Given the description of an element on the screen output the (x, y) to click on. 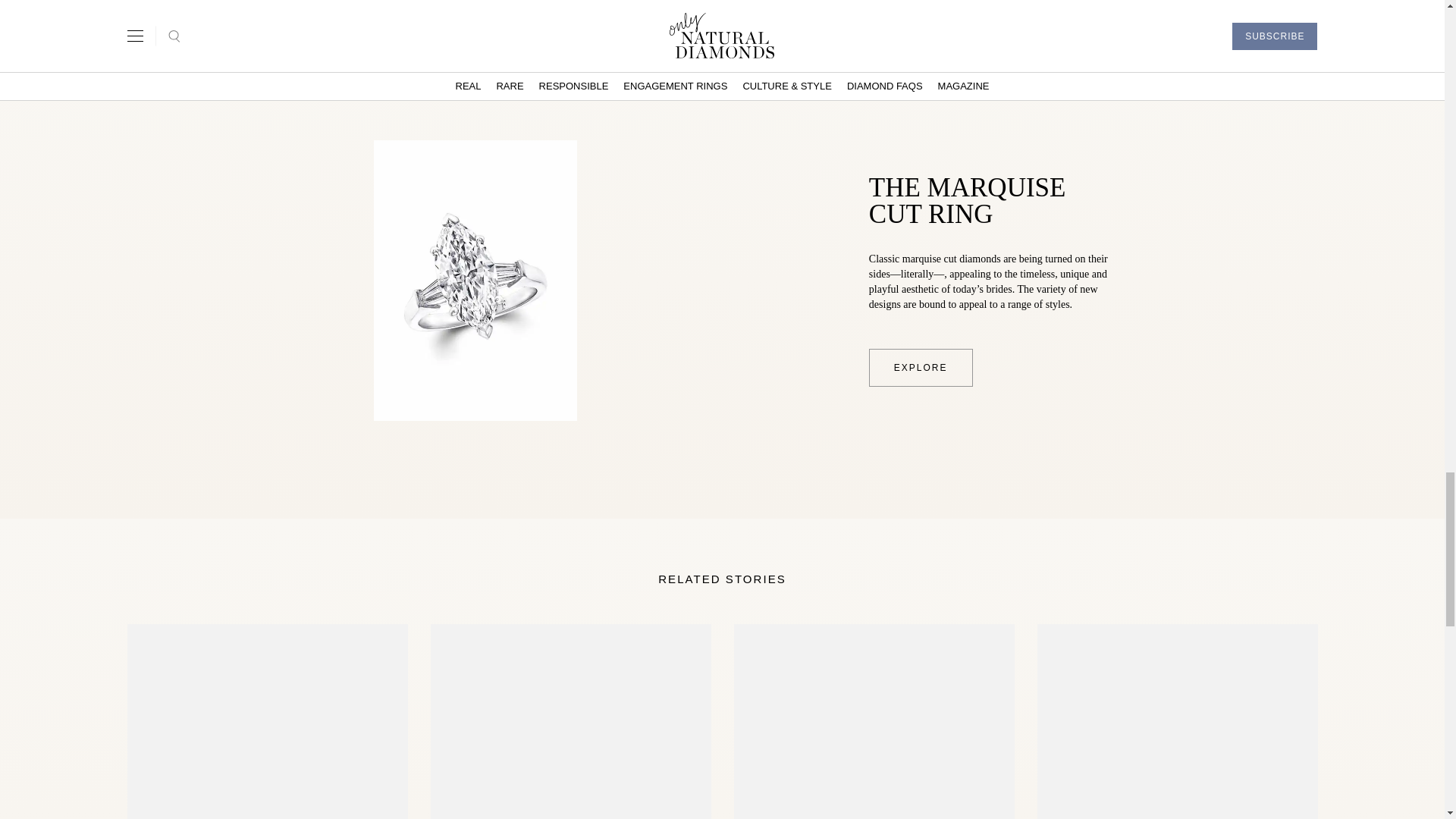
Page 4 (992, 281)
